Given the description of an element on the screen output the (x, y) to click on. 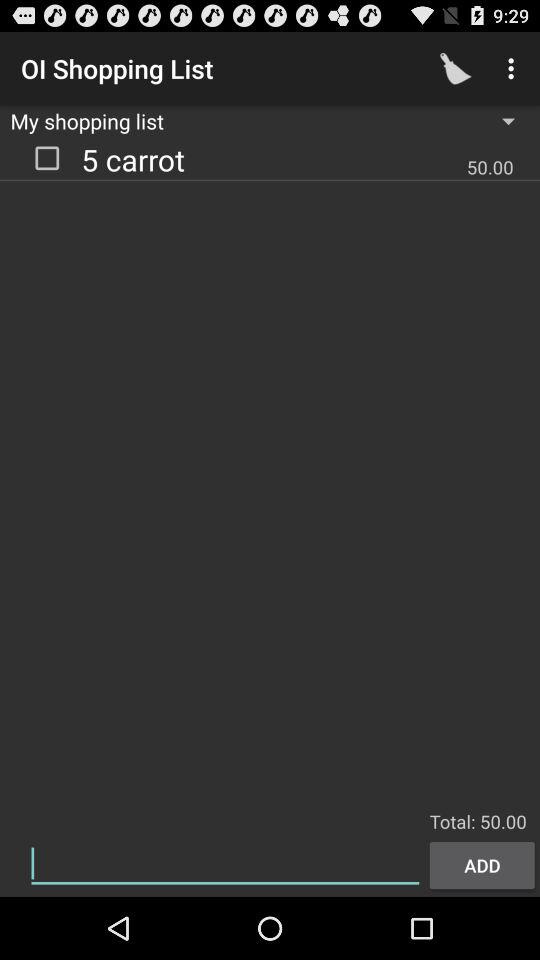
place a checkmark (47, 157)
